Given the description of an element on the screen output the (x, y) to click on. 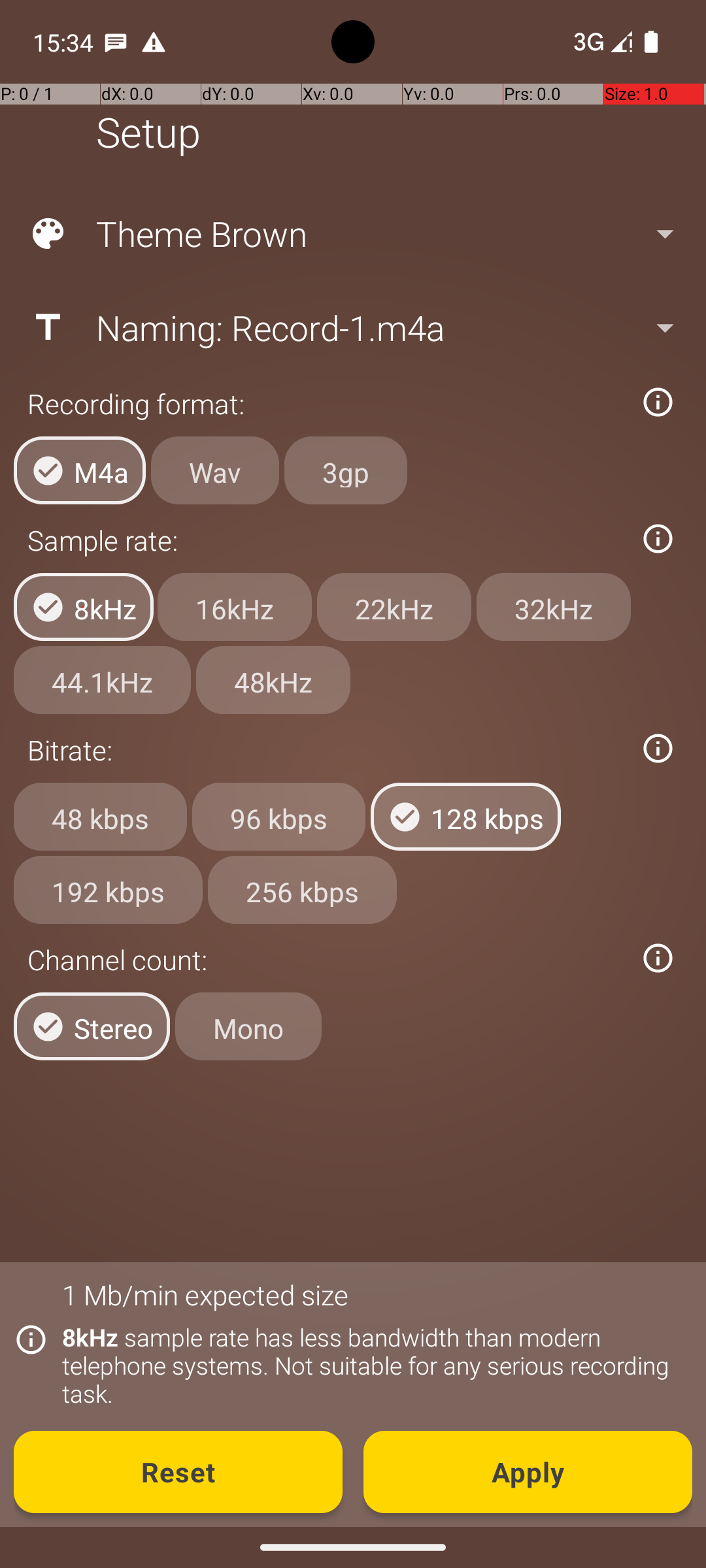
1 Mb/min expected size Element type: android.widget.TextView (205, 1294)
8kHz sample rate has less bandwidth than modern telephone systems. Not suitable for any serious recording task. Element type: android.widget.TextView (370, 1364)
Reset Element type: android.widget.Button (177, 1471)
Apply Element type: android.widget.Button (527, 1471)
Setup Element type: android.widget.TextView (148, 131)
Recording format: Element type: android.widget.TextView (325, 403)
M4a Element type: android.widget.TextView (79, 470)
Wav Element type: android.widget.TextView (215, 470)
3gp Element type: android.widget.TextView (345, 470)
Sample rate: Element type: android.widget.TextView (325, 539)
44.1kHz Element type: android.widget.TextView (101, 680)
16kHz Element type: android.widget.TextView (234, 606)
22kHz Element type: android.widget.TextView (394, 606)
32kHz Element type: android.widget.TextView (553, 606)
48kHz Element type: android.widget.TextView (273, 680)
8kHz Element type: android.widget.TextView (83, 606)
Bitrate: Element type: android.widget.TextView (325, 749)
128 kbps Element type: android.widget.TextView (465, 816)
192 kbps Element type: android.widget.TextView (107, 889)
256 kbps Element type: android.widget.TextView (301, 889)
48 kbps Element type: android.widget.TextView (99, 816)
96 kbps Element type: android.widget.TextView (278, 816)
Channel count: Element type: android.widget.TextView (325, 959)
Stereo Element type: android.widget.TextView (91, 1026)
Mono Element type: android.widget.TextView (248, 1026)
Theme Brown Element type: android.widget.TextView (352, 233)
Naming: Record-1.m4a Element type: android.widget.TextView (352, 327)
15:34 Element type: android.widget.TextView (64, 41)
SMS Messenger notification:  Element type: android.widget.ImageView (115, 41)
Android System notification: Data warning Element type: android.widget.ImageView (153, 41)
Phone two bars. Element type: android.widget.FrameLayout (600, 41)
Battery 100 percent. Element type: android.widget.LinearLayout (650, 41)
No internet Element type: android.widget.ImageView (587, 41)
